Given the description of an element on the screen output the (x, y) to click on. 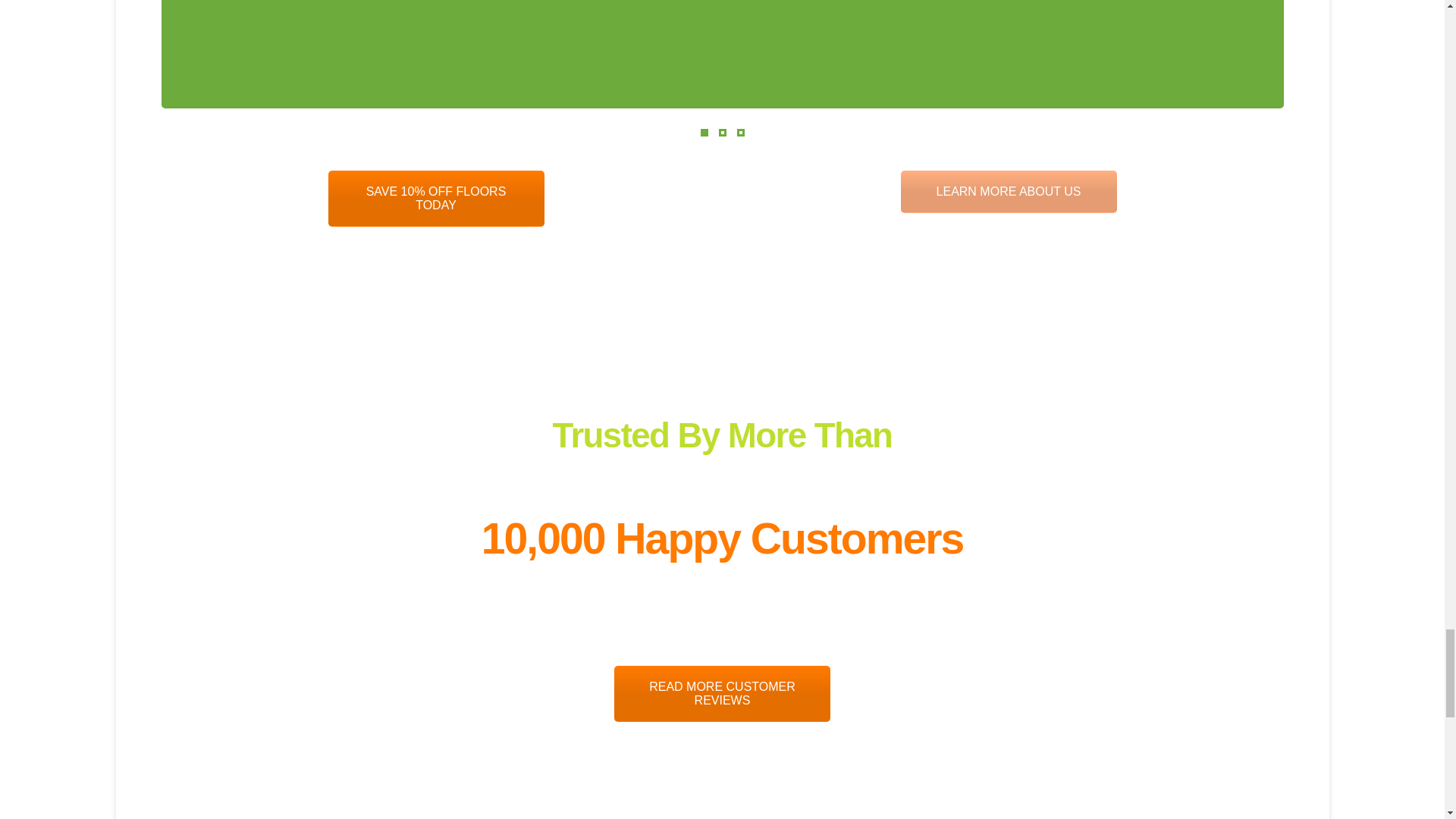
Free Estimate (721, 693)
Free Estimate (435, 198)
Free Estimate (1008, 191)
